Given the description of an element on the screen output the (x, y) to click on. 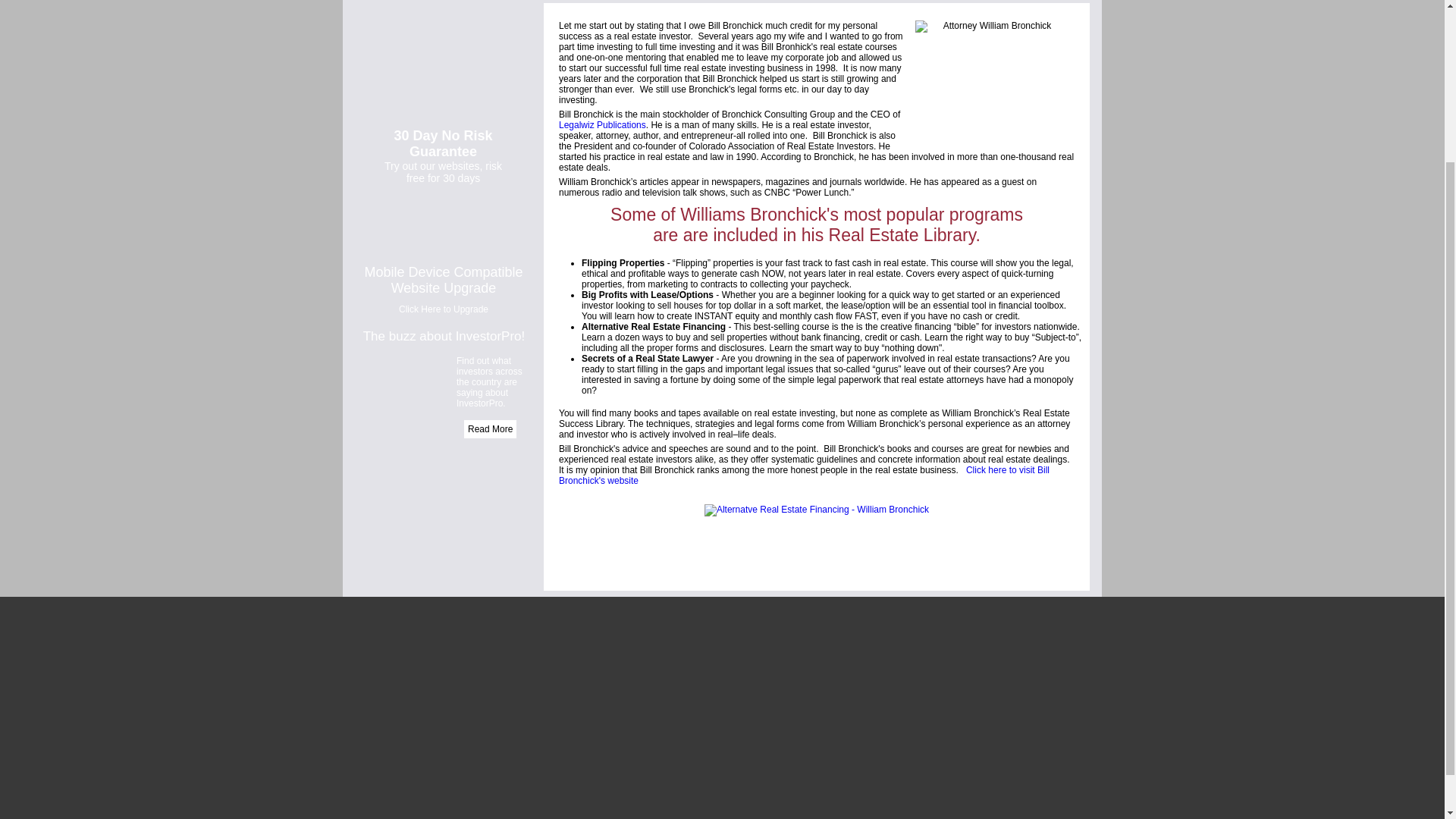
Read More (490, 429)
Click here to visit Bill Bronchick's website (804, 475)
Legalwiz Publications (602, 124)
30 Day Web Site Guarantee (443, 155)
Alternatve Real Estate Financing - William Bronchick (816, 509)
Click Here to Upgrade (442, 308)
Upgrage Your Web Site for Mobile Phones (442, 308)
Real Estate Investor Web Site Testimonials (490, 429)
Legalwiz Publications (602, 124)
